Given the description of an element on the screen output the (x, y) to click on. 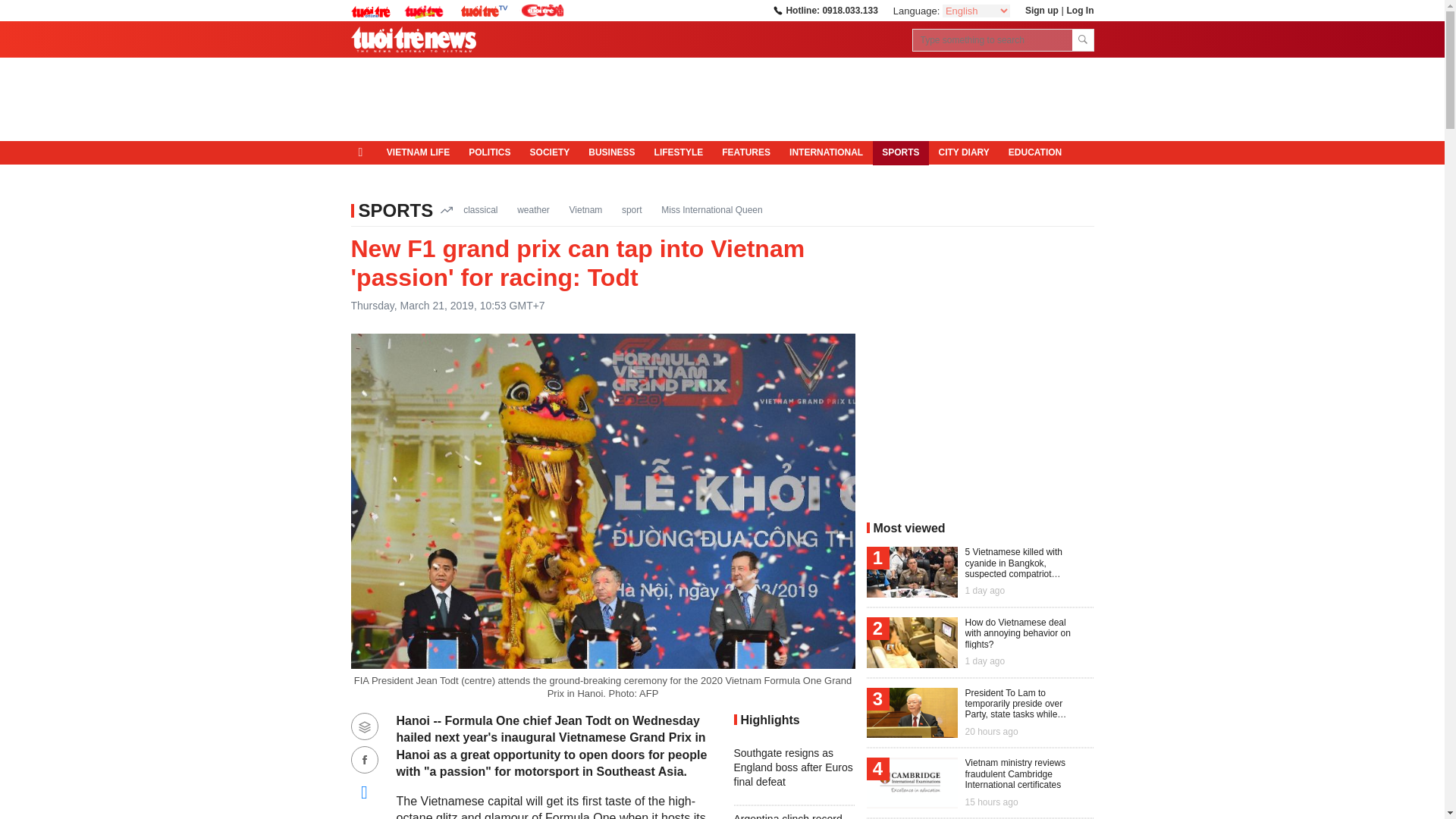
BUSINESS (612, 152)
Education (1034, 152)
Hot Line (824, 9)
Lifestyle (679, 152)
Vietname Life (417, 152)
Features (746, 152)
Business (612, 152)
EDUCATION (1034, 152)
International (826, 152)
weather (533, 209)
classical (480, 209)
Miss International Queen (711, 209)
INTERNATIONAL (826, 152)
City Diary (963, 152)
SOCIETY (549, 152)
